Given the description of an element on the screen output the (x, y) to click on. 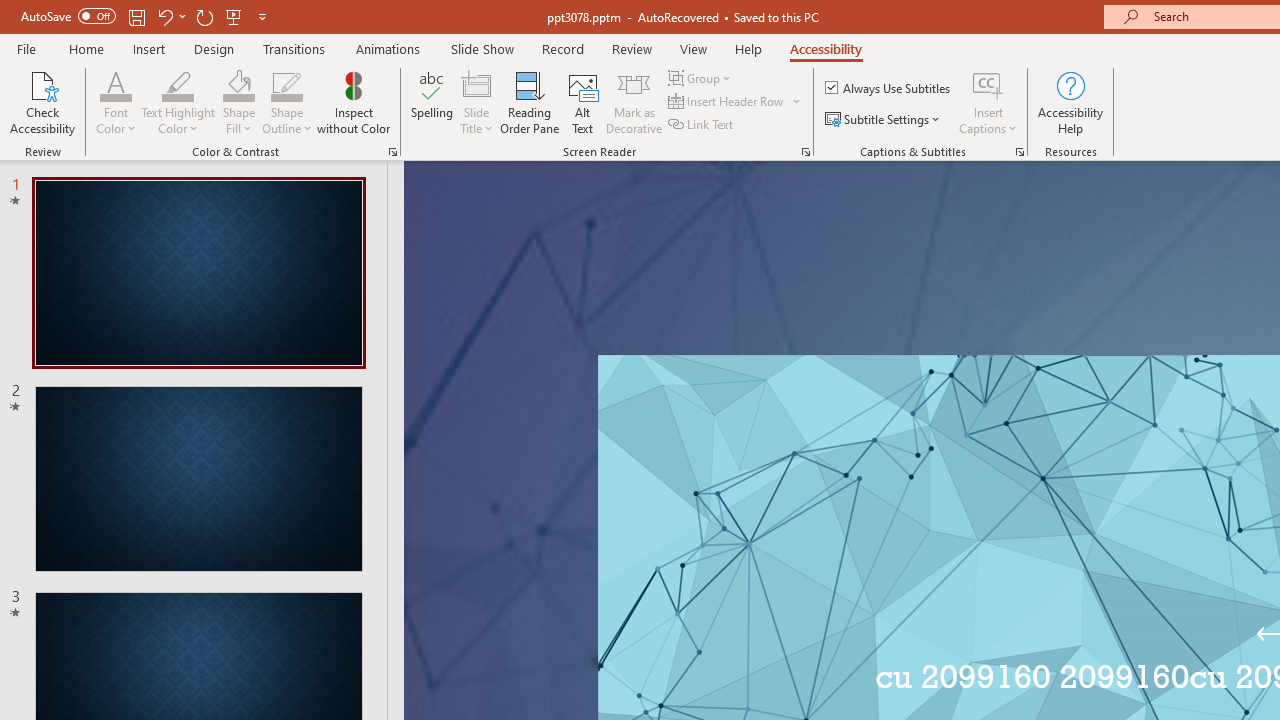
Captions & Subtitles (1019, 151)
Slide Title (476, 84)
Color & Contrast (392, 151)
Mark as Decorative (634, 102)
Screen Reader (805, 151)
Reading Order Pane (529, 102)
Shape Outline (286, 102)
